Given the description of an element on the screen output the (x, y) to click on. 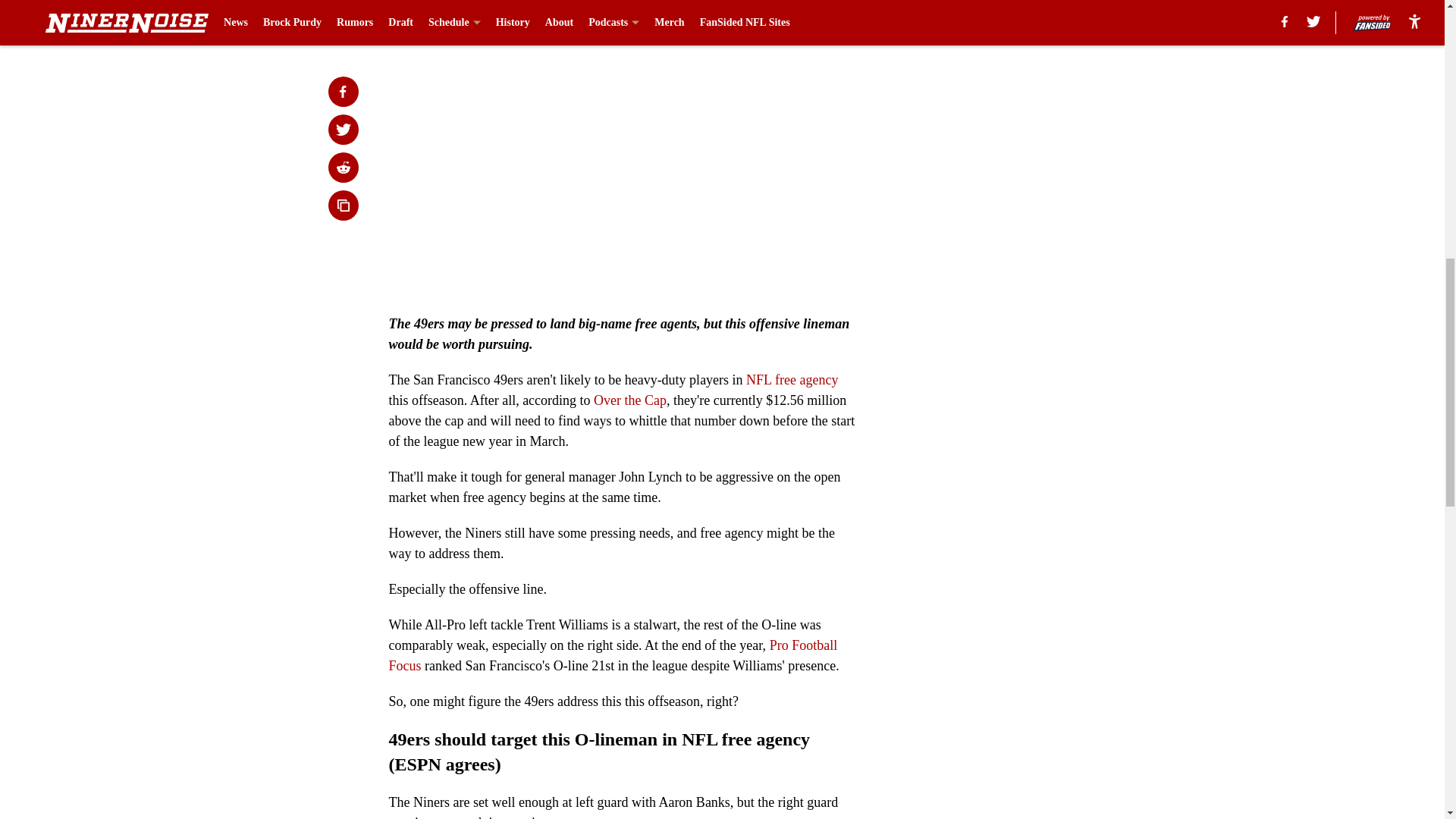
NFL free agency (791, 379)
Pro Football Focus (612, 655)
Over the Cap (630, 400)
